Given the description of an element on the screen output the (x, y) to click on. 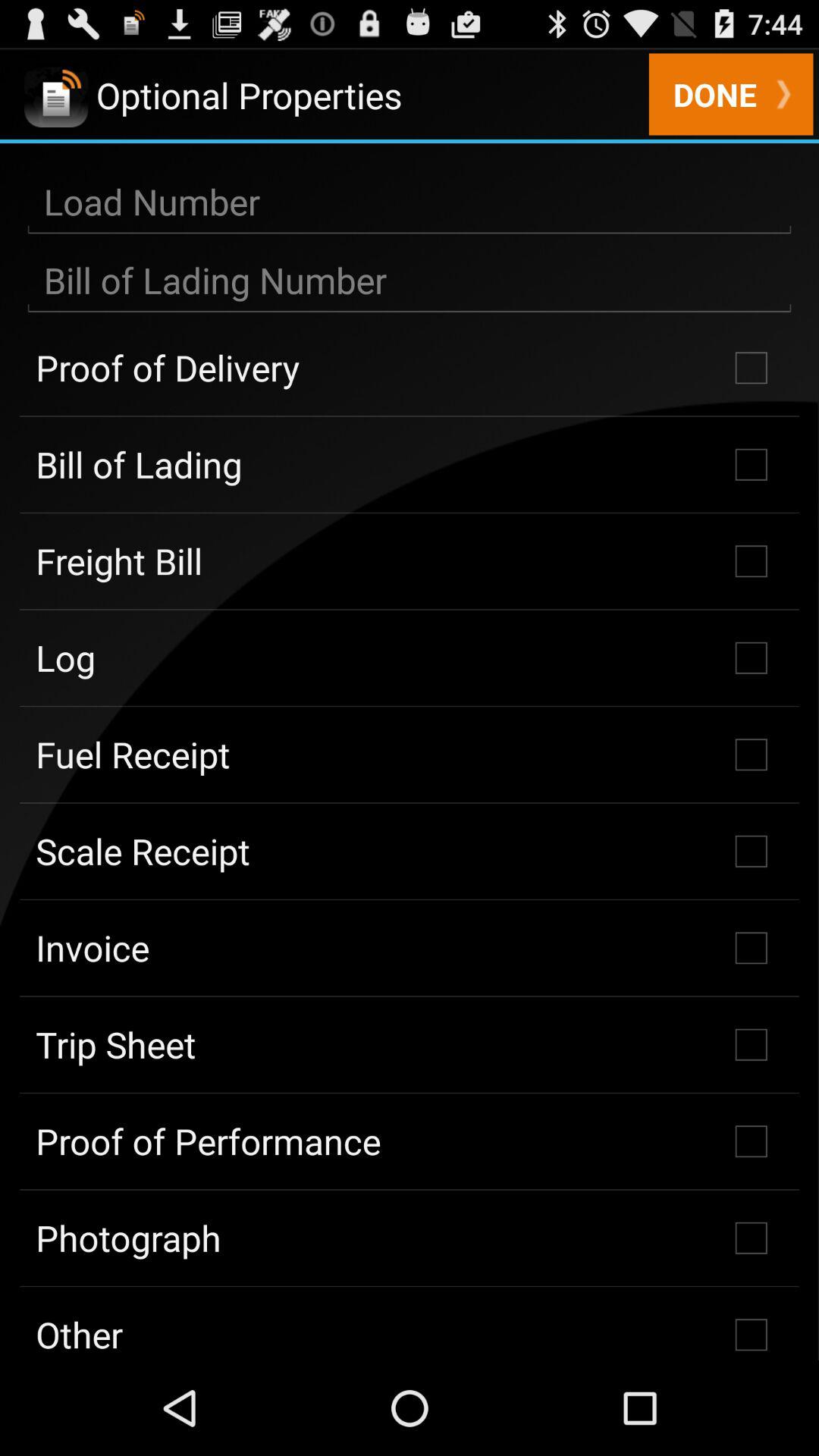
tap the item above the trip sheet icon (409, 947)
